Given the description of an element on the screen output the (x, y) to click on. 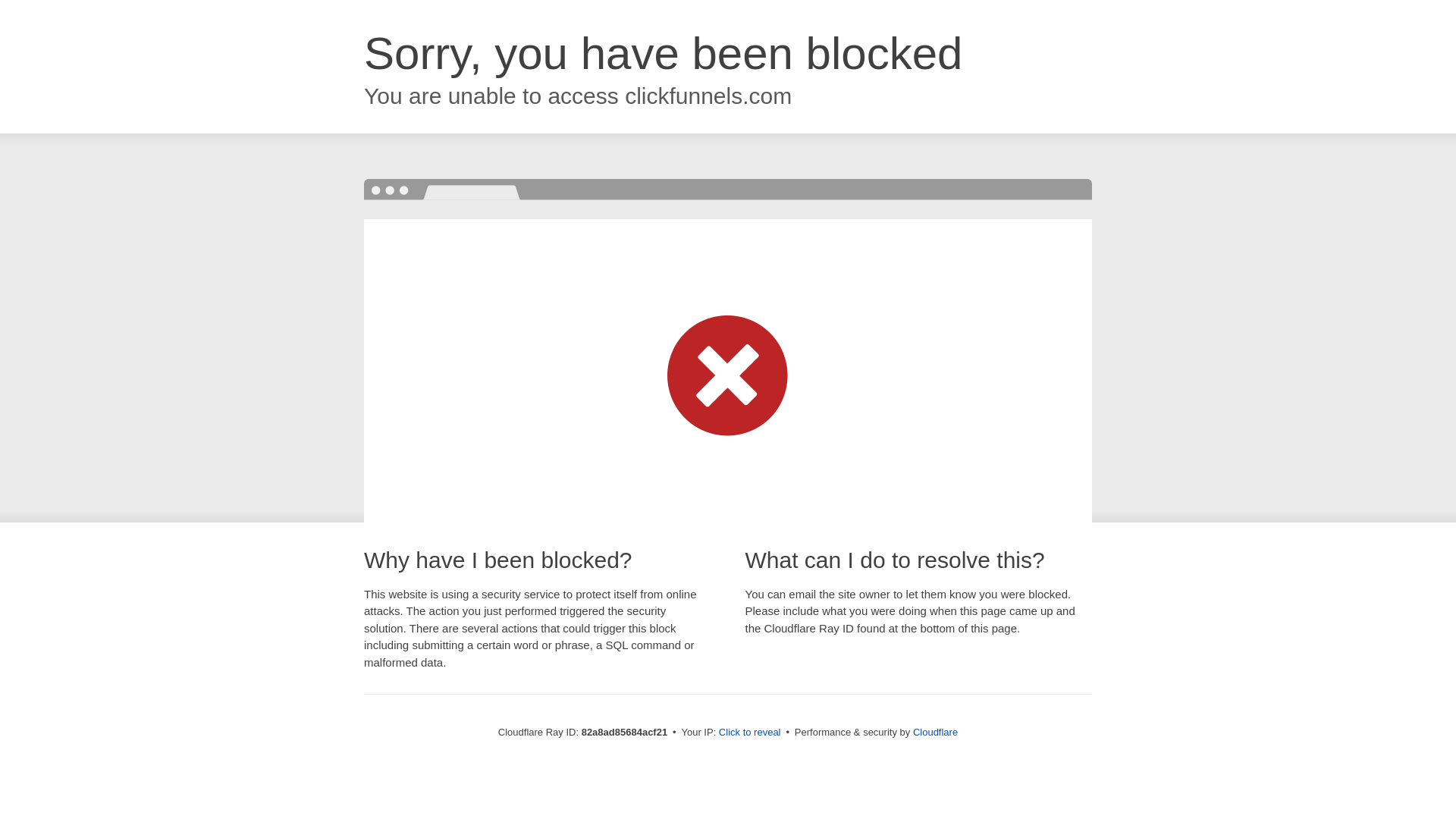
Click to reveal Element type: text (749, 732)
Cloudflare Element type: text (935, 731)
